Given the description of an element on the screen output the (x, y) to click on. 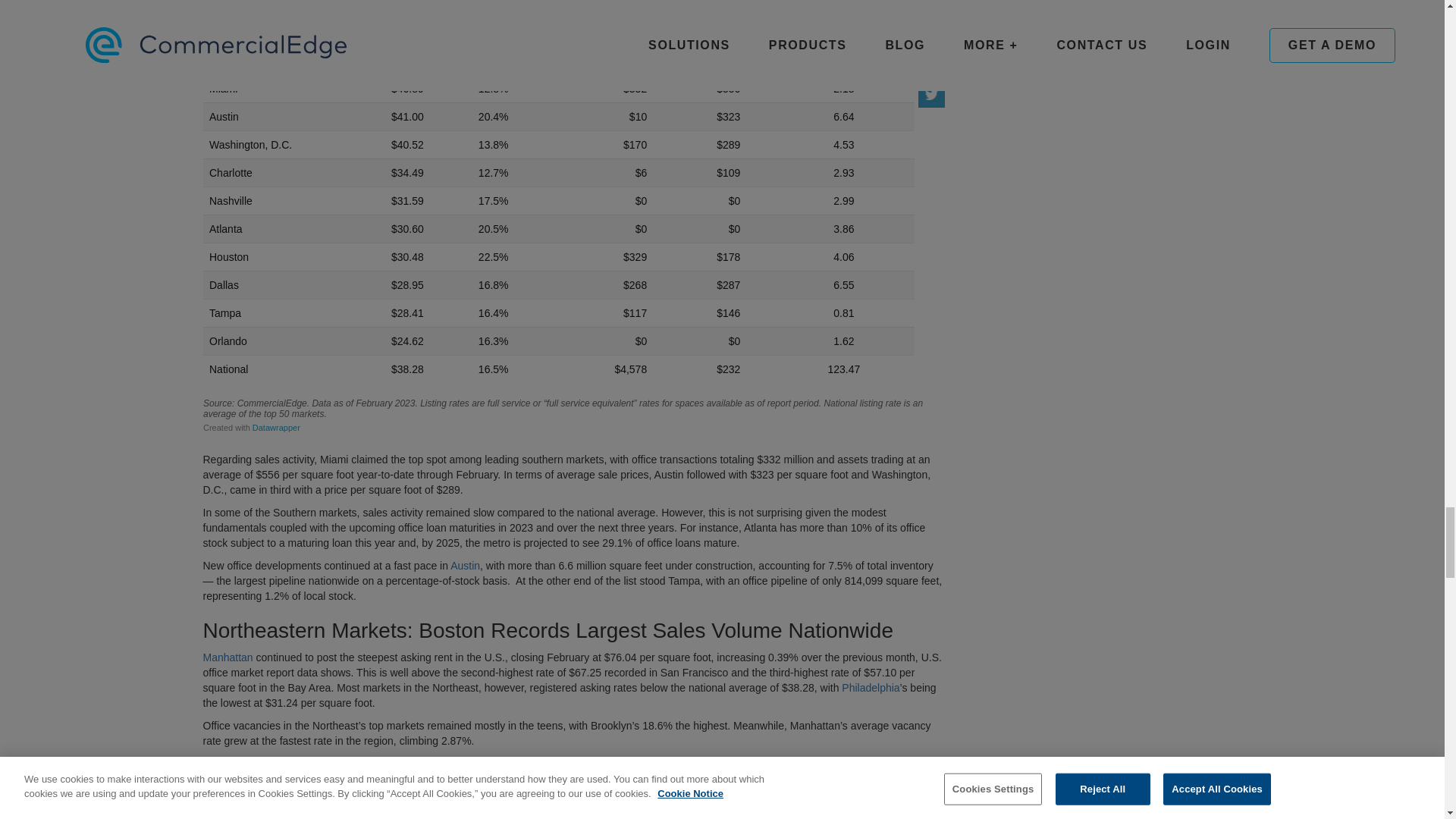
Northeast Mar-23 (573, 810)
